Given the description of an element on the screen output the (x, y) to click on. 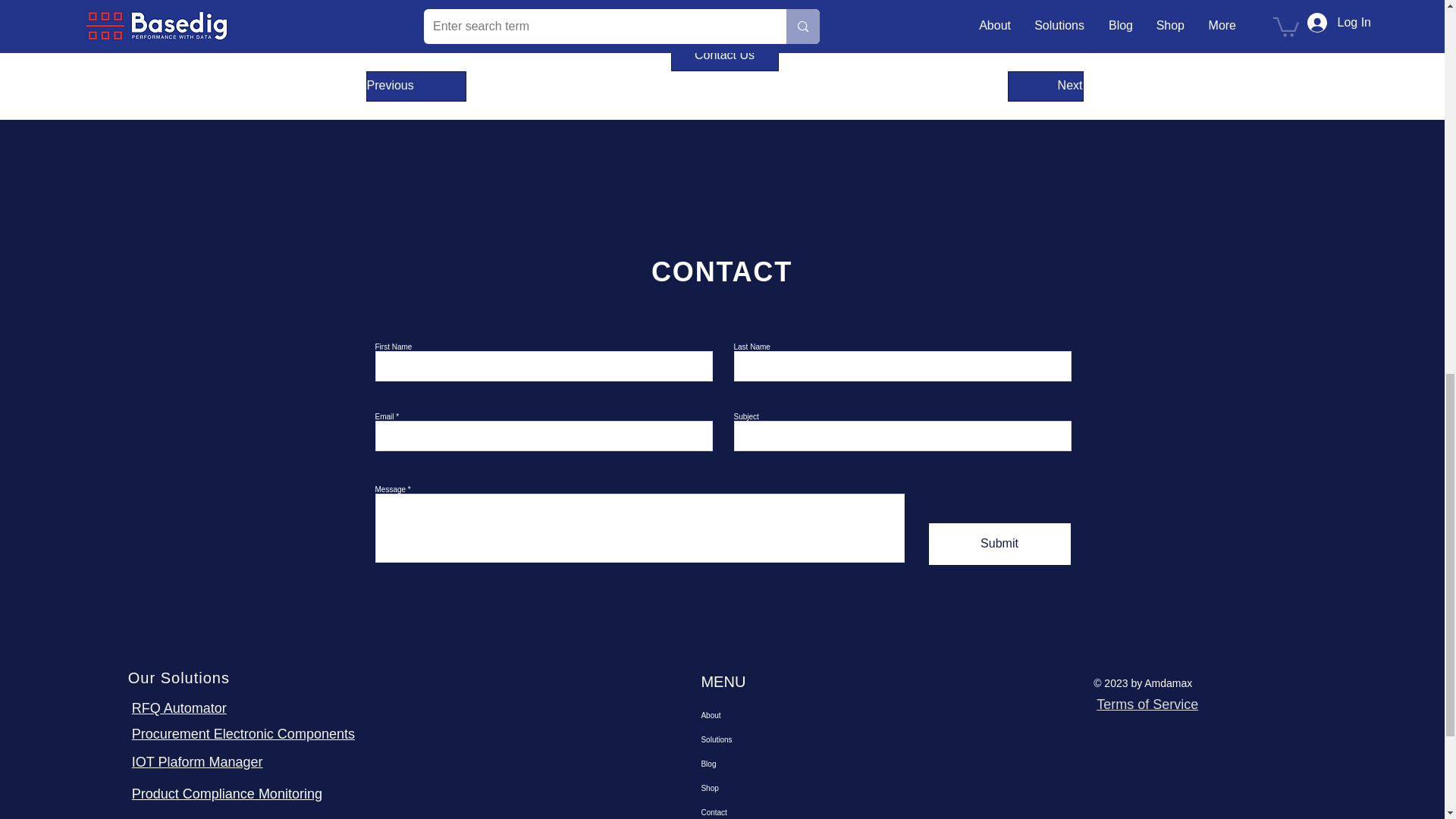
About (771, 715)
RFQ Automator (179, 708)
Previous (415, 86)
Solutions (771, 740)
Procurement Electronic Components (243, 734)
Product Compliance Monitoring (226, 793)
Next (1045, 86)
Our Solutions (179, 677)
IOT Plaform Manager (197, 761)
Contact Us (723, 55)
